Given the description of an element on the screen output the (x, y) to click on. 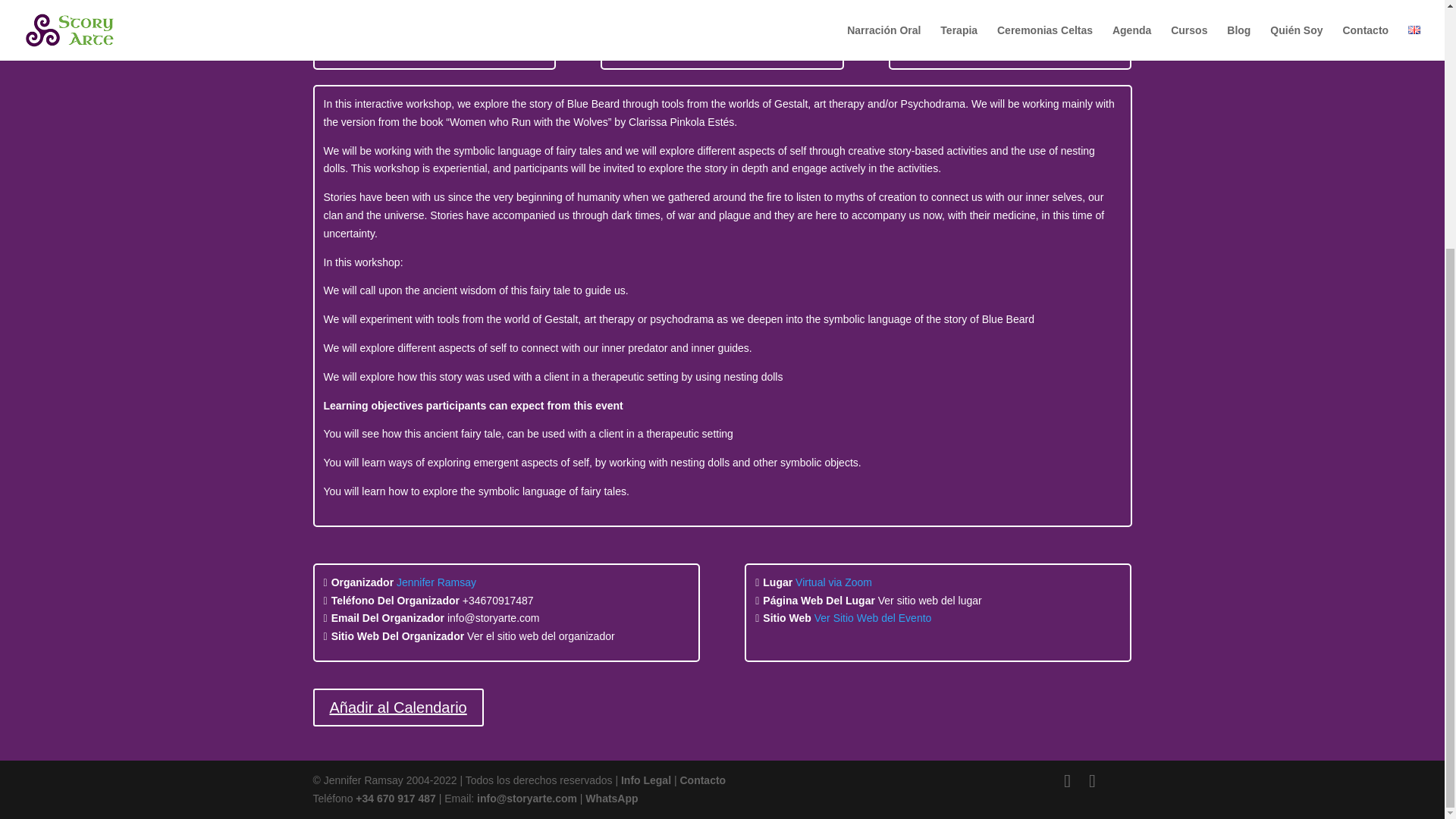
Ver el sitio web del organizador (540, 635)
Ver sitio web del lugar (929, 600)
Jennifer Ramsay (436, 582)
Virtual via Zoom (833, 582)
Ver Sitio Web del Evento (872, 617)
Contacto (702, 779)
